Given the description of an element on the screen output the (x, y) to click on. 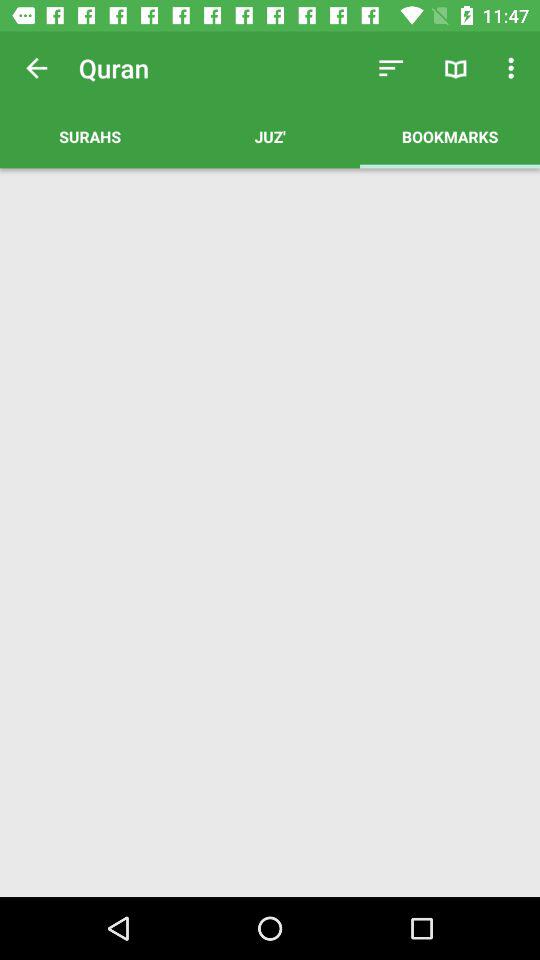
select item next to the surahs (390, 67)
